Given the description of an element on the screen output the (x, y) to click on. 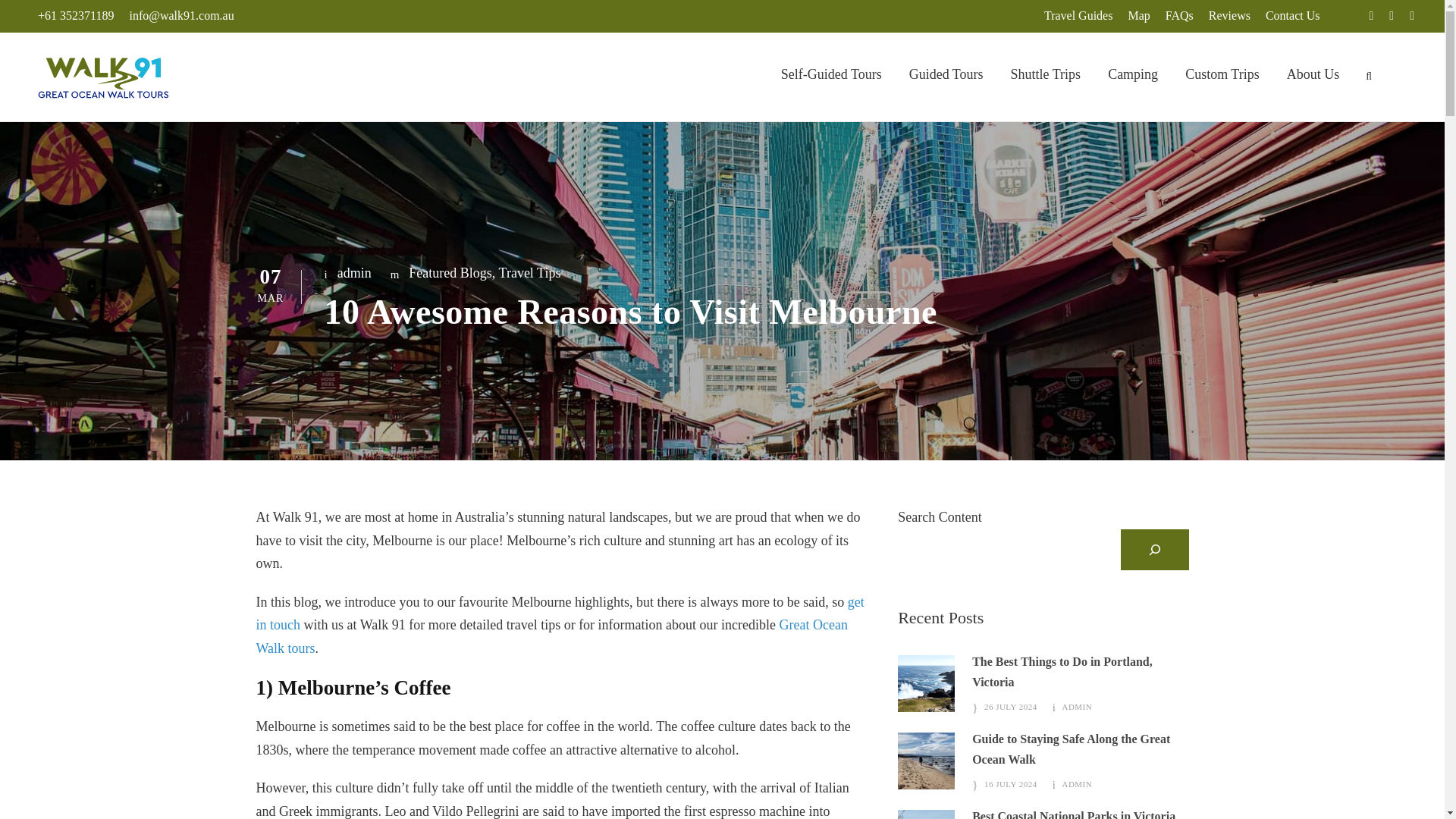
Posts by admin (1076, 783)
Posts by admin (1076, 706)
Posts by admin (354, 272)
Logo-walk-91-01 (102, 78)
Map (1138, 15)
Travel Guides (1078, 15)
FAQs (1179, 15)
